Given the description of an element on the screen output the (x, y) to click on. 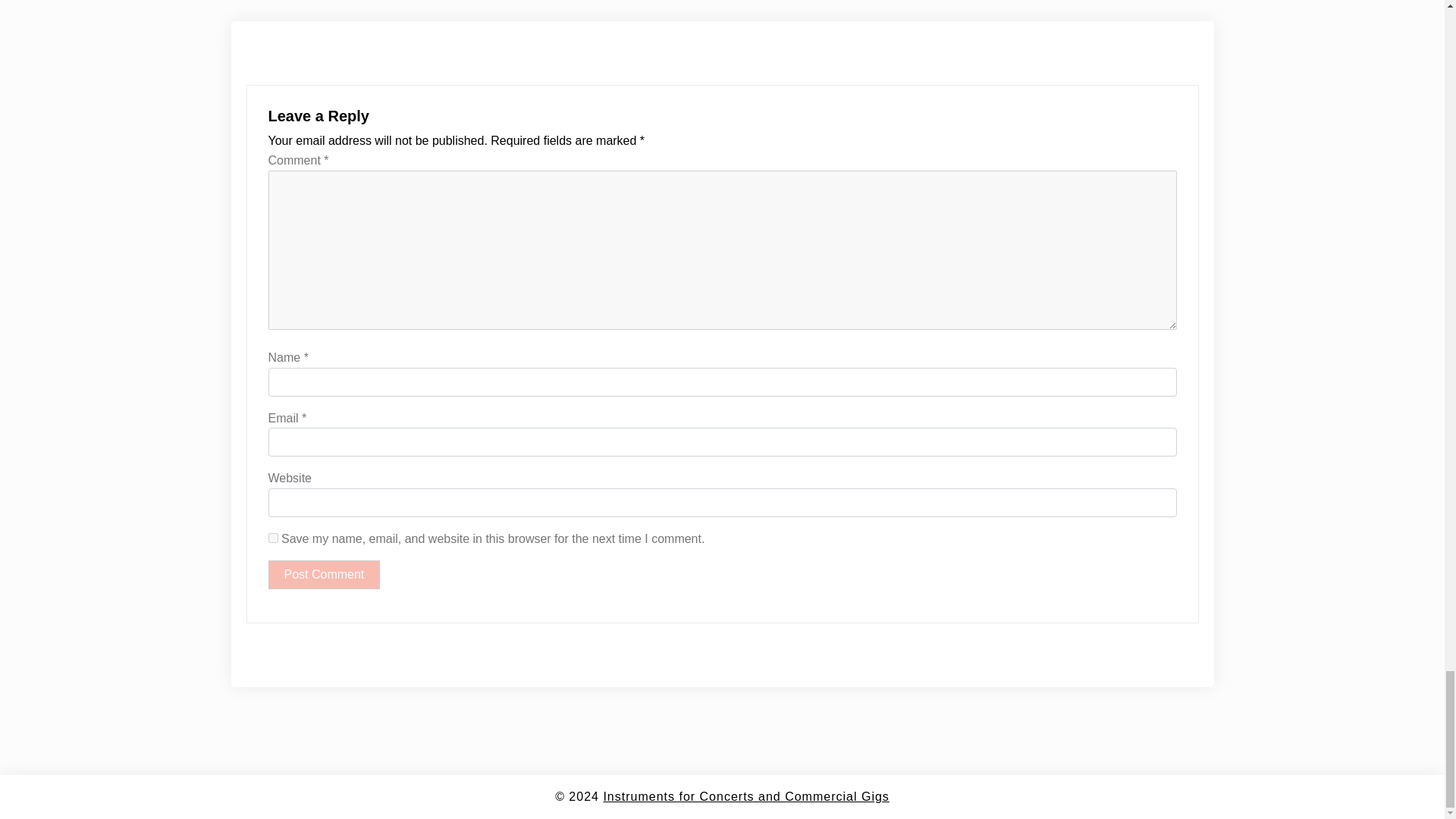
Post Comment (323, 574)
yes (272, 537)
